Given the description of an element on the screen output the (x, y) to click on. 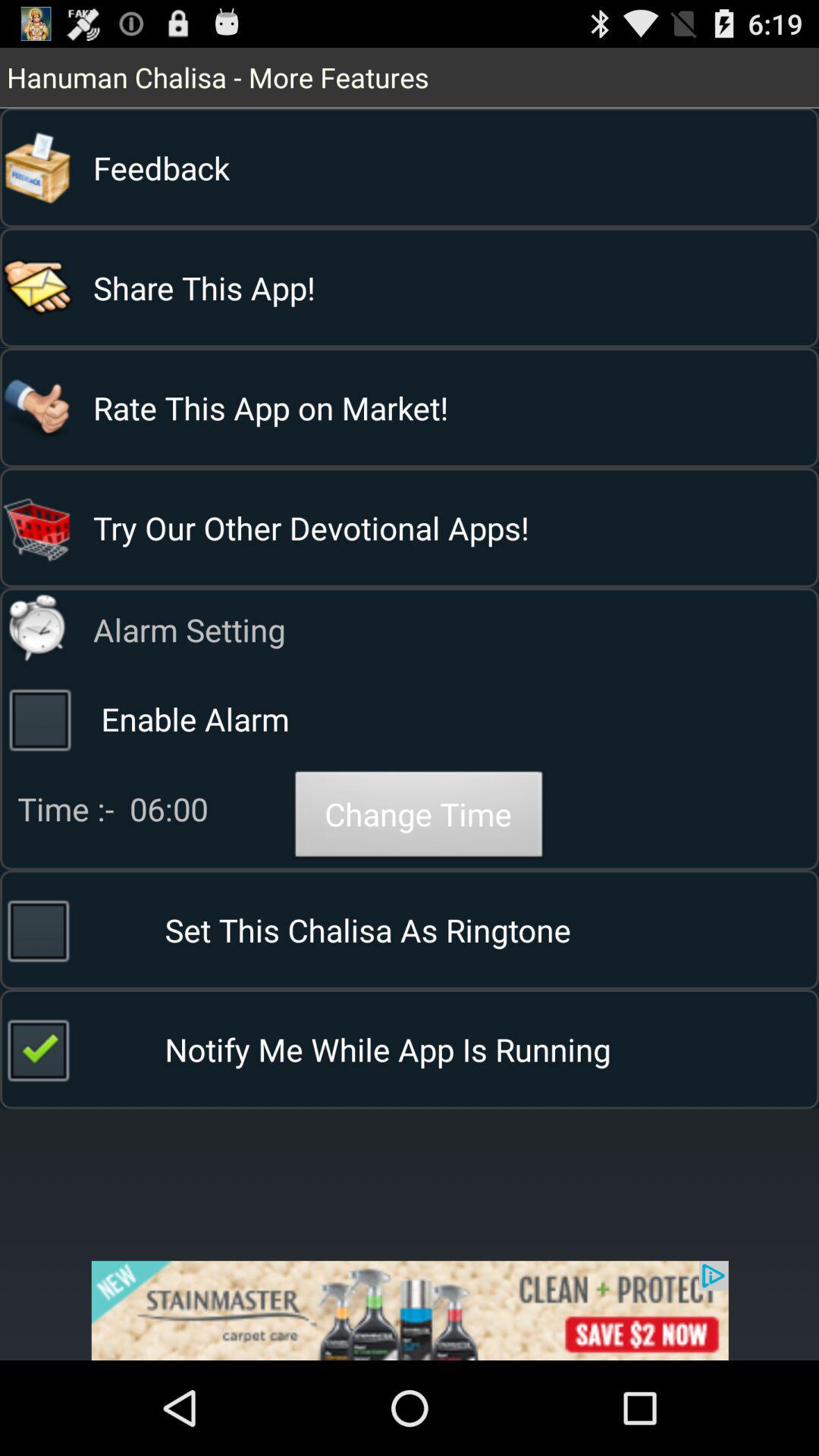
click advertisement (409, 1310)
